Given the description of an element on the screen output the (x, y) to click on. 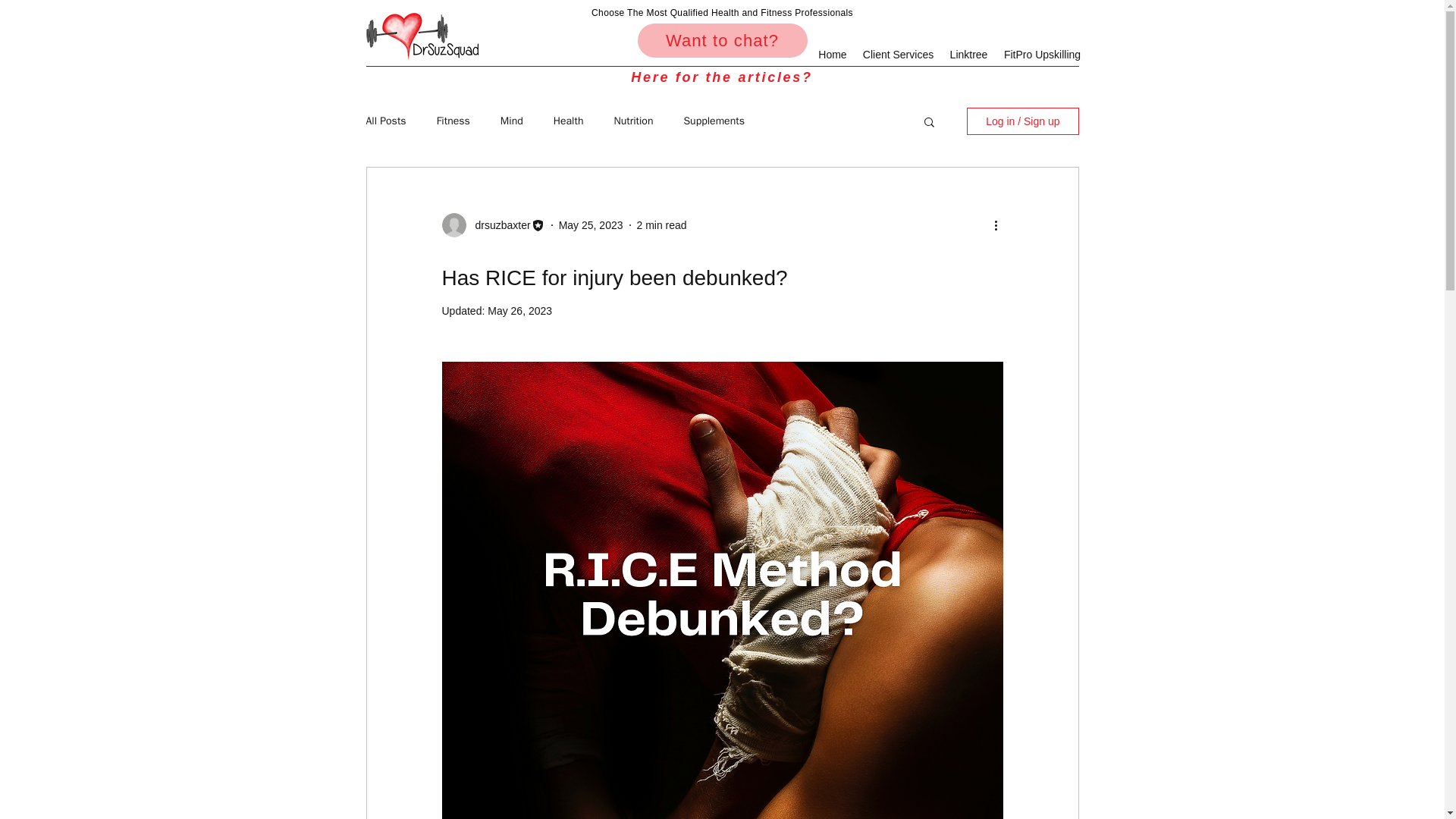
Health (568, 120)
Home (832, 54)
FitPro Upskilling (1042, 54)
May 26, 2023 (519, 310)
Mind (511, 120)
Supplements (713, 120)
May 25, 2023 (591, 224)
2 min read (662, 224)
Here for the articles? (721, 77)
Nutrition (632, 120)
Want to chat? (721, 40)
Fitness (453, 120)
All Posts (385, 120)
Client Services (898, 54)
Linktree (968, 54)
